Given the description of an element on the screen output the (x, y) to click on. 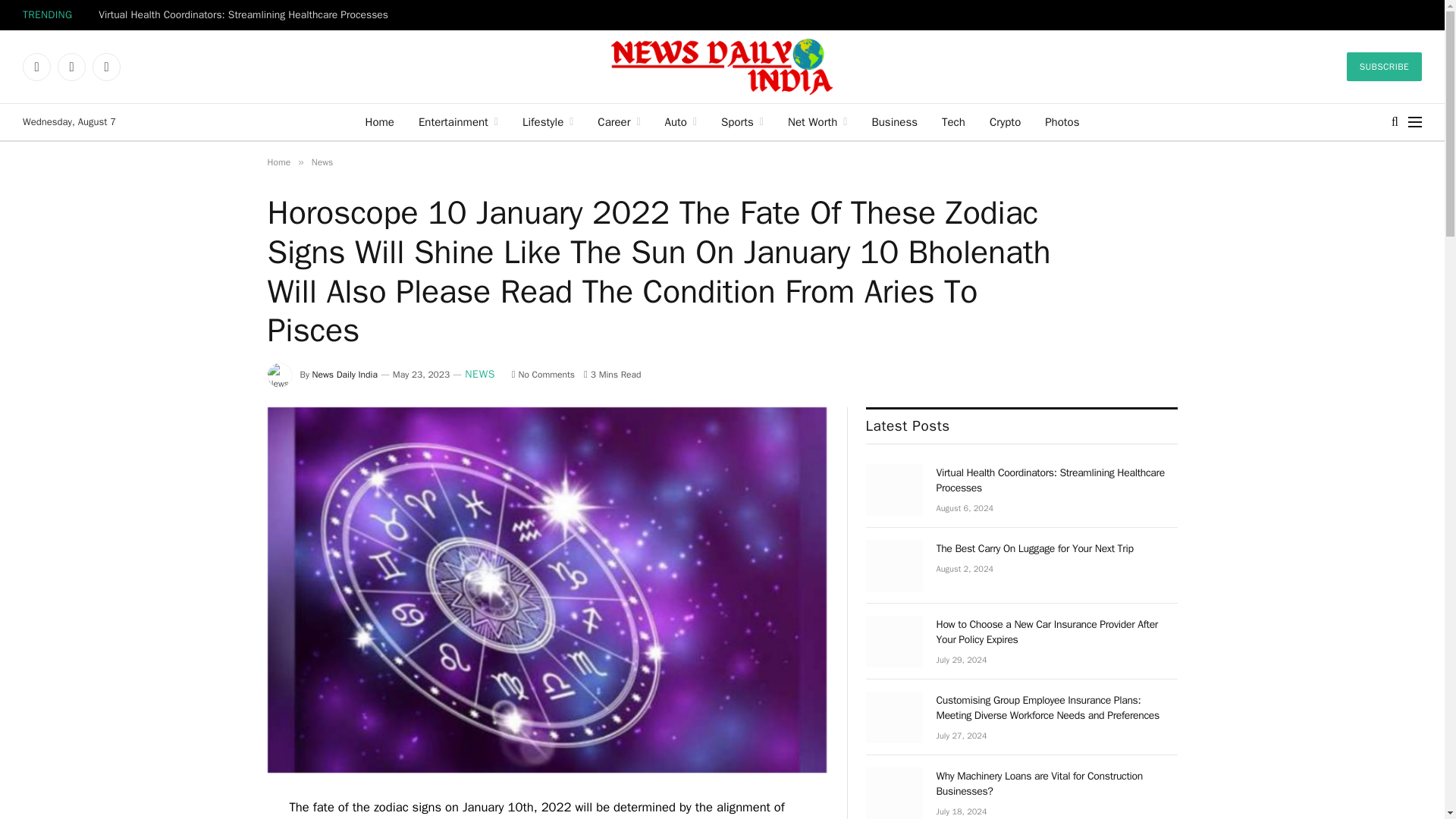
Twitter (71, 67)
Home (379, 122)
Instagram (106, 67)
Entertainment (458, 122)
News Daily India (722, 66)
Lifestyle (548, 122)
Career (618, 122)
Facebook (36, 67)
SUBSCRIBE (1384, 66)
Posts by News Daily India (345, 374)
